Given the description of an element on the screen output the (x, y) to click on. 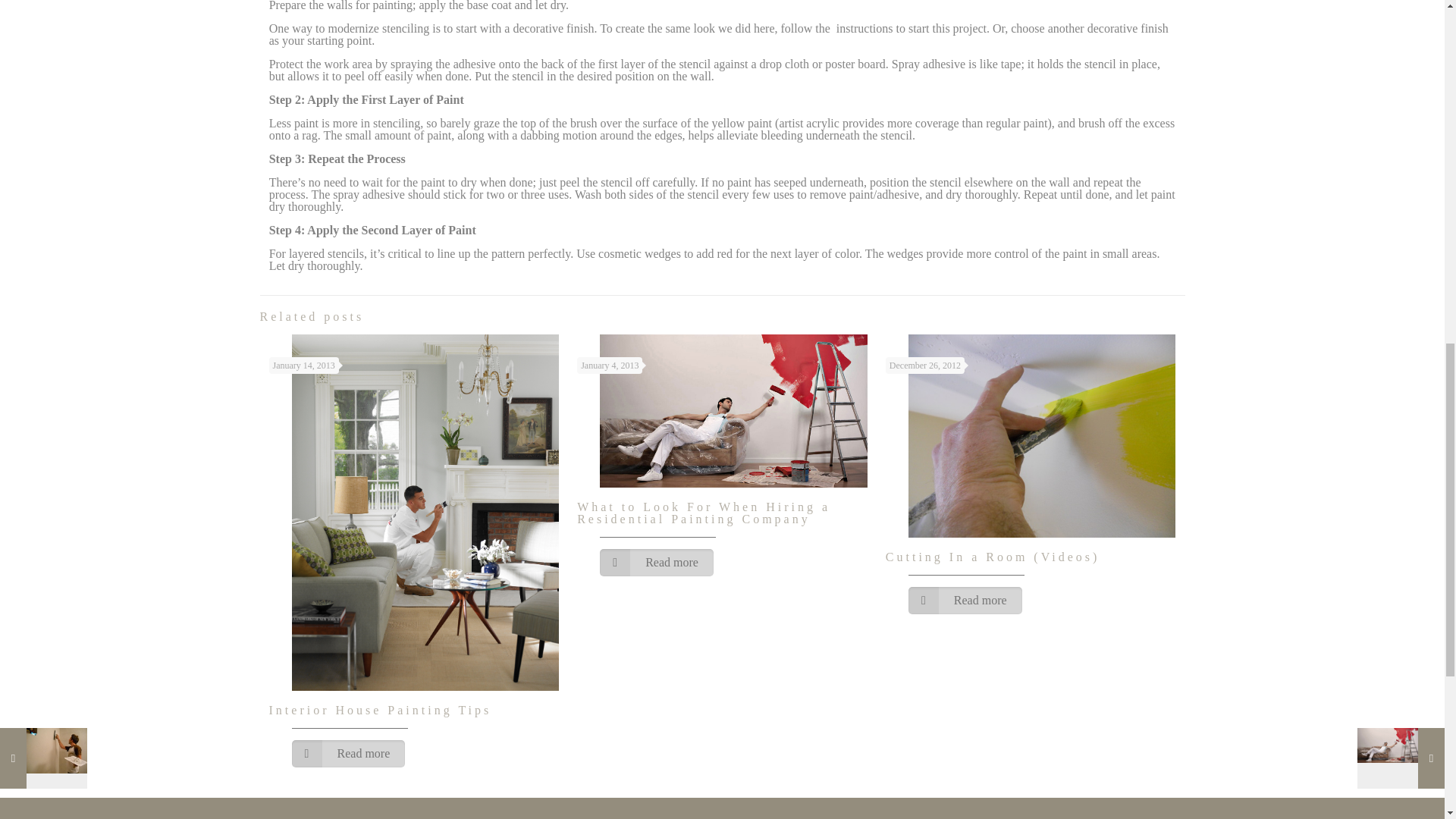
Read more (347, 753)
Interior House Painting Tips (379, 709)
What to Look For When Hiring a Residential Painting Company (702, 512)
Read more (656, 562)
Read more (965, 600)
